Given the description of an element on the screen output the (x, y) to click on. 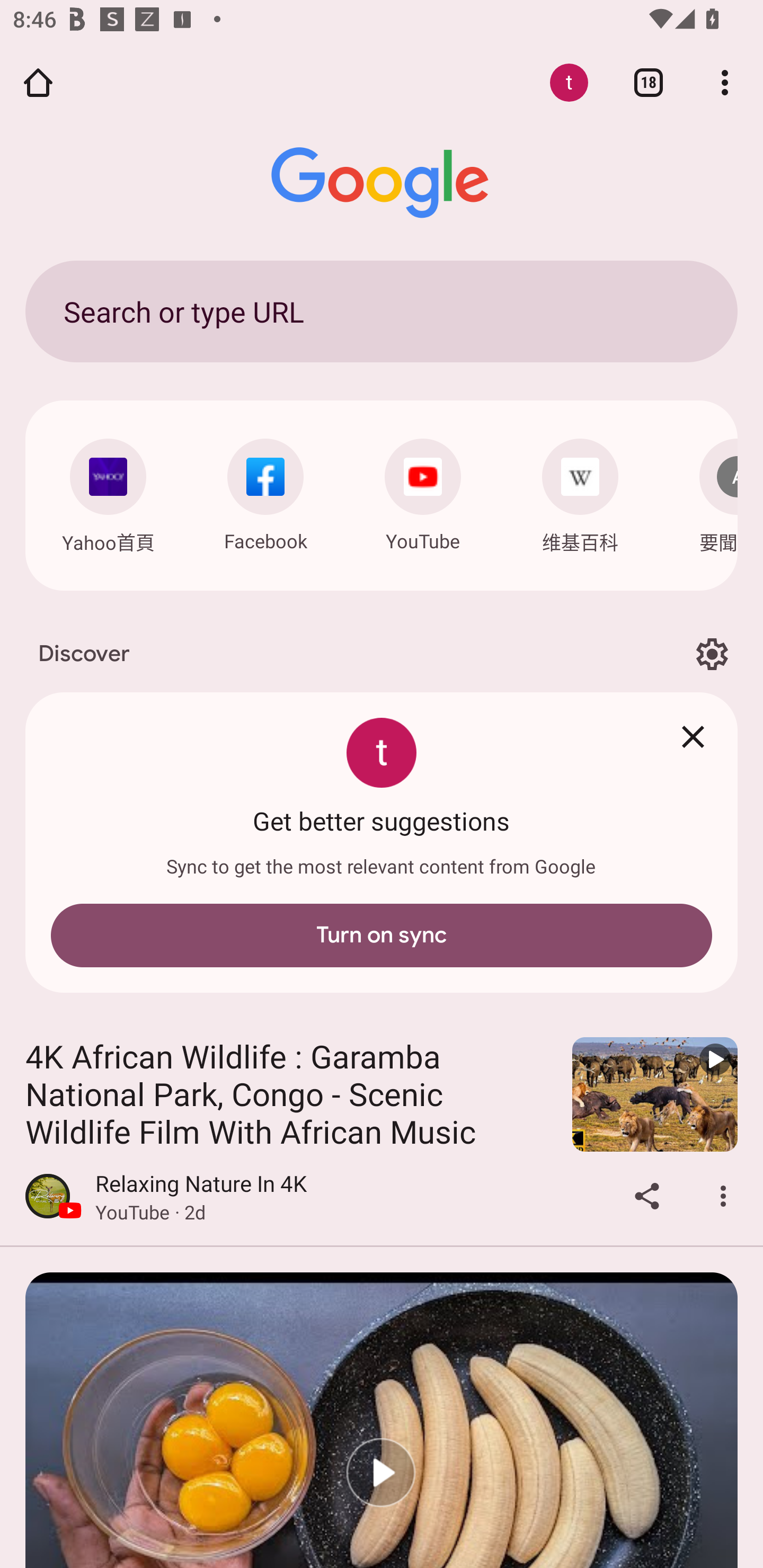
Open the home page (38, 82)
Switch or close tabs (648, 82)
Customize and control Google Chrome (724, 82)
Search or type URL (381, 311)
Navigate: Yahoo首頁: hk.mobi.yahoo.com Yahoo首頁 (107, 491)
Navigate: Facebook: m.facebook.com Facebook (265, 490)
Navigate: YouTube: m.youtube.com YouTube (422, 490)
Navigate: 维基百科: zh.m.wikipedia.org 维基百科 (579, 491)
Navigate: 要聞港聞: hk.news.appledaily.com 要聞港聞 (705, 491)
Options for Discover (711, 654)
Close (692, 736)
Turn on sync (381, 934)
